Given the description of an element on the screen output the (x, y) to click on. 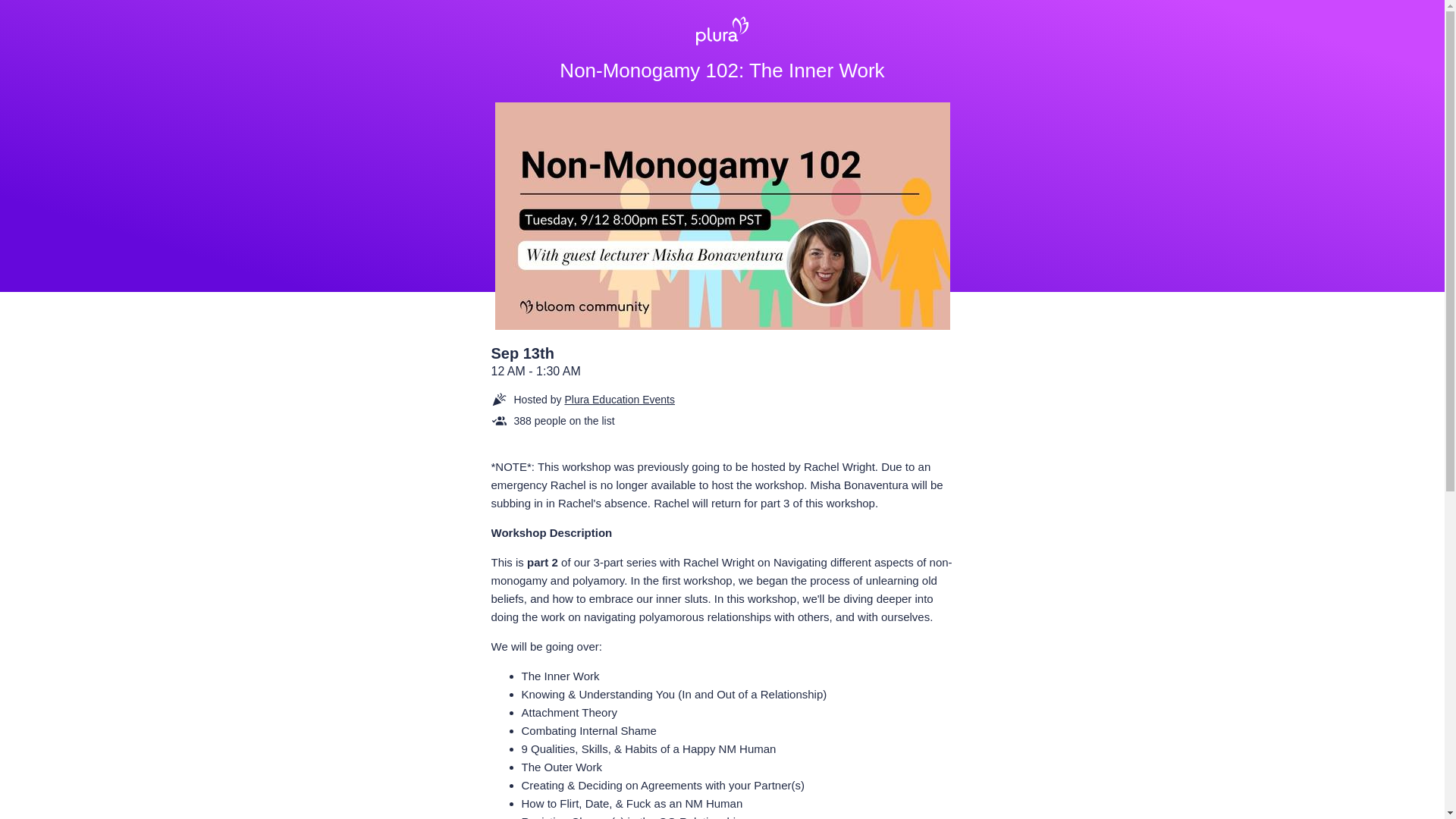
Attendees (643, 420)
Organization (643, 399)
Plura Education Events (619, 399)
Event date and time (722, 362)
